Given the description of an element on the screen output the (x, y) to click on. 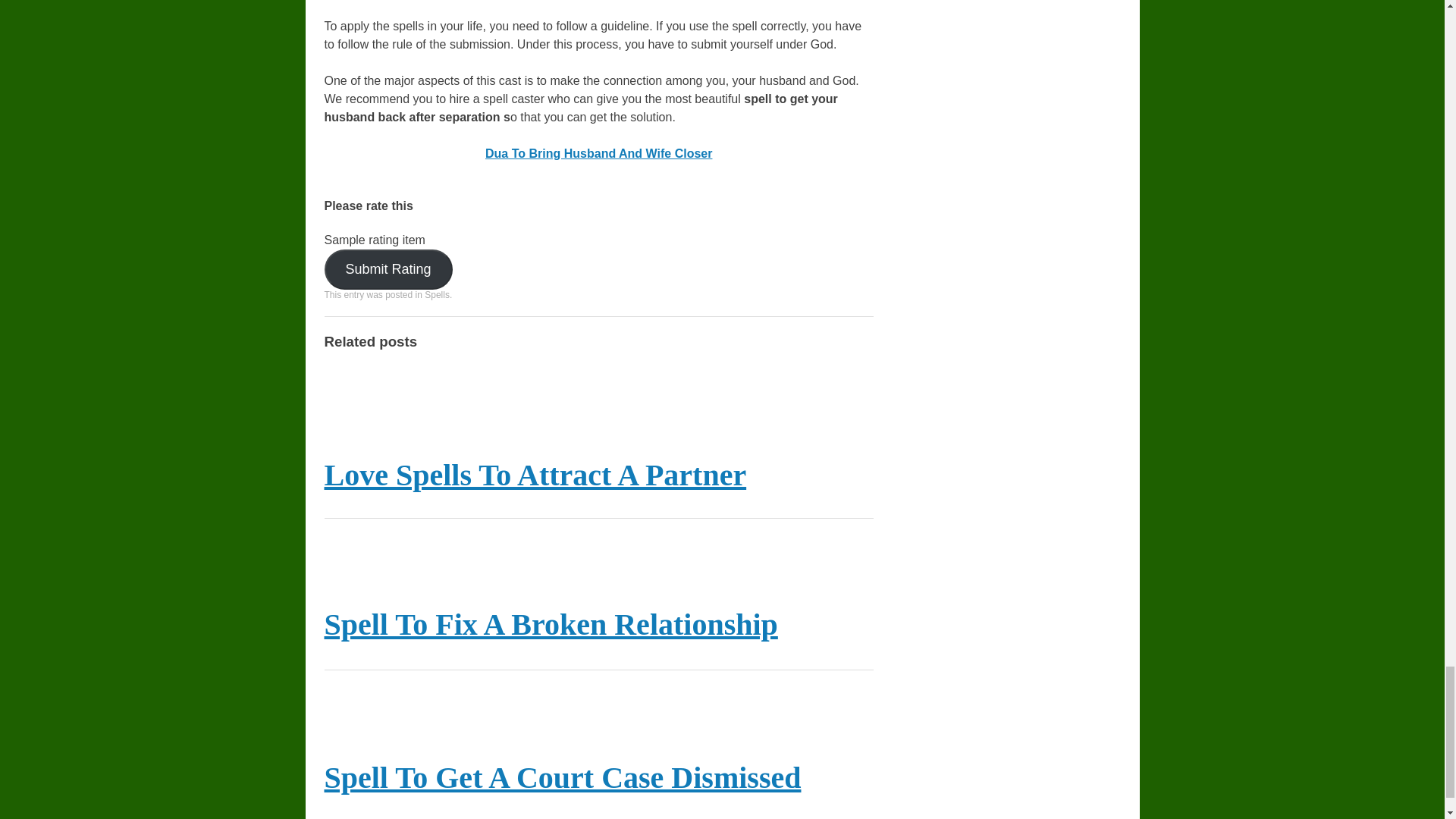
Spell To Get A Court Case Dismissed (563, 777)
Permalink to Spell To Get A Court Case Dismissed (563, 777)
Spell To Fix A Broken Relationship (550, 624)
Dua To Bring Husband And Wife Closer (597, 153)
Submit Rating (388, 269)
Love Spells To Attract A Partner (535, 474)
Spells (437, 294)
Submit Rating (388, 269)
Permalink to Love Spells To Attract A Partner (535, 474)
Permalink to Spell To Fix A Broken Relationship (550, 624)
